Given the description of an element on the screen output the (x, y) to click on. 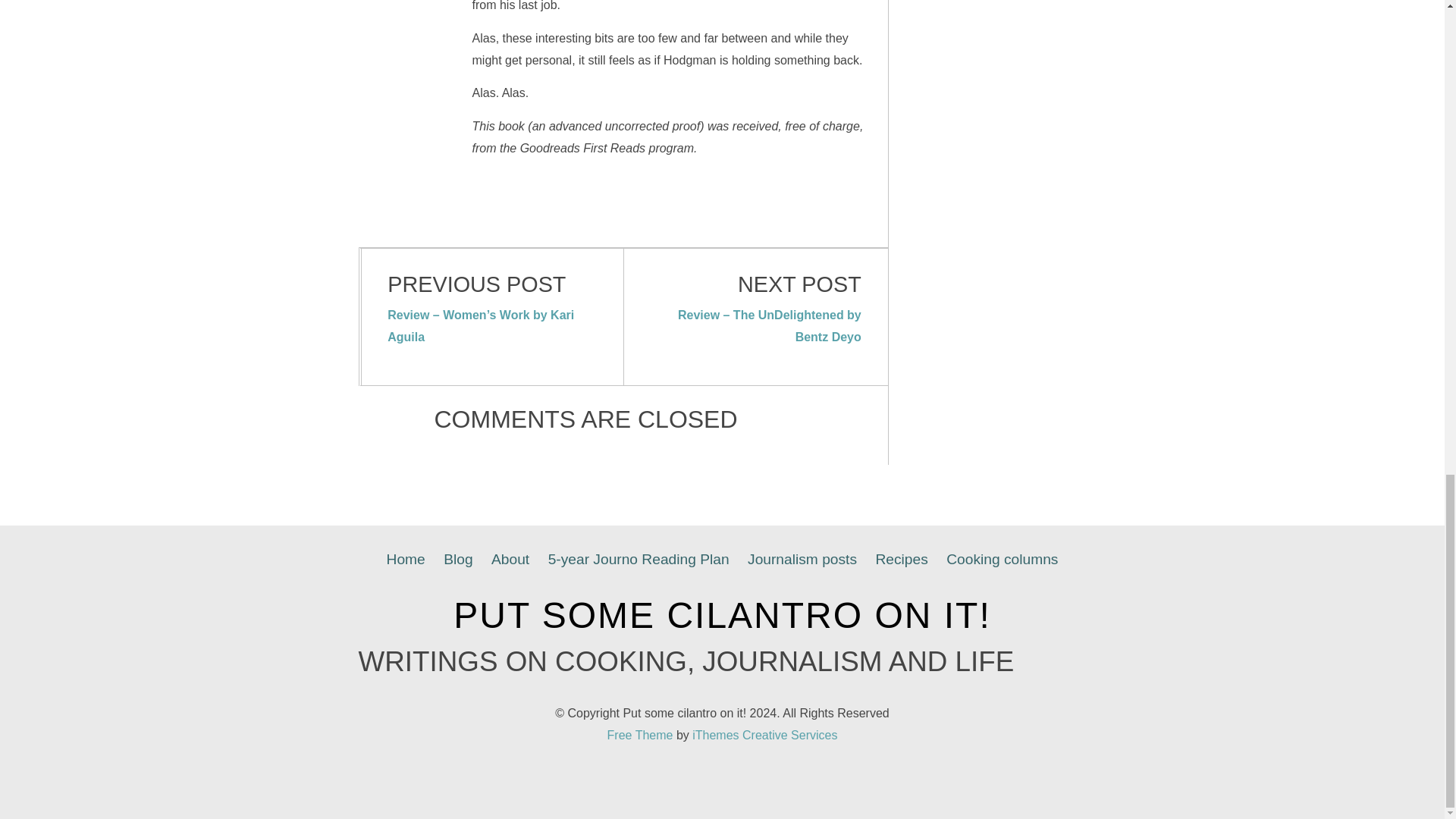
Put some cilantro on it! (721, 615)
5-year Journo Reading Plan (638, 559)
About (510, 559)
Blog (457, 559)
Recipes (900, 559)
Home (405, 559)
Journalism posts (801, 559)
Free Theme (639, 735)
WordPress Themes (765, 735)
